Given the description of an element on the screen output the (x, y) to click on. 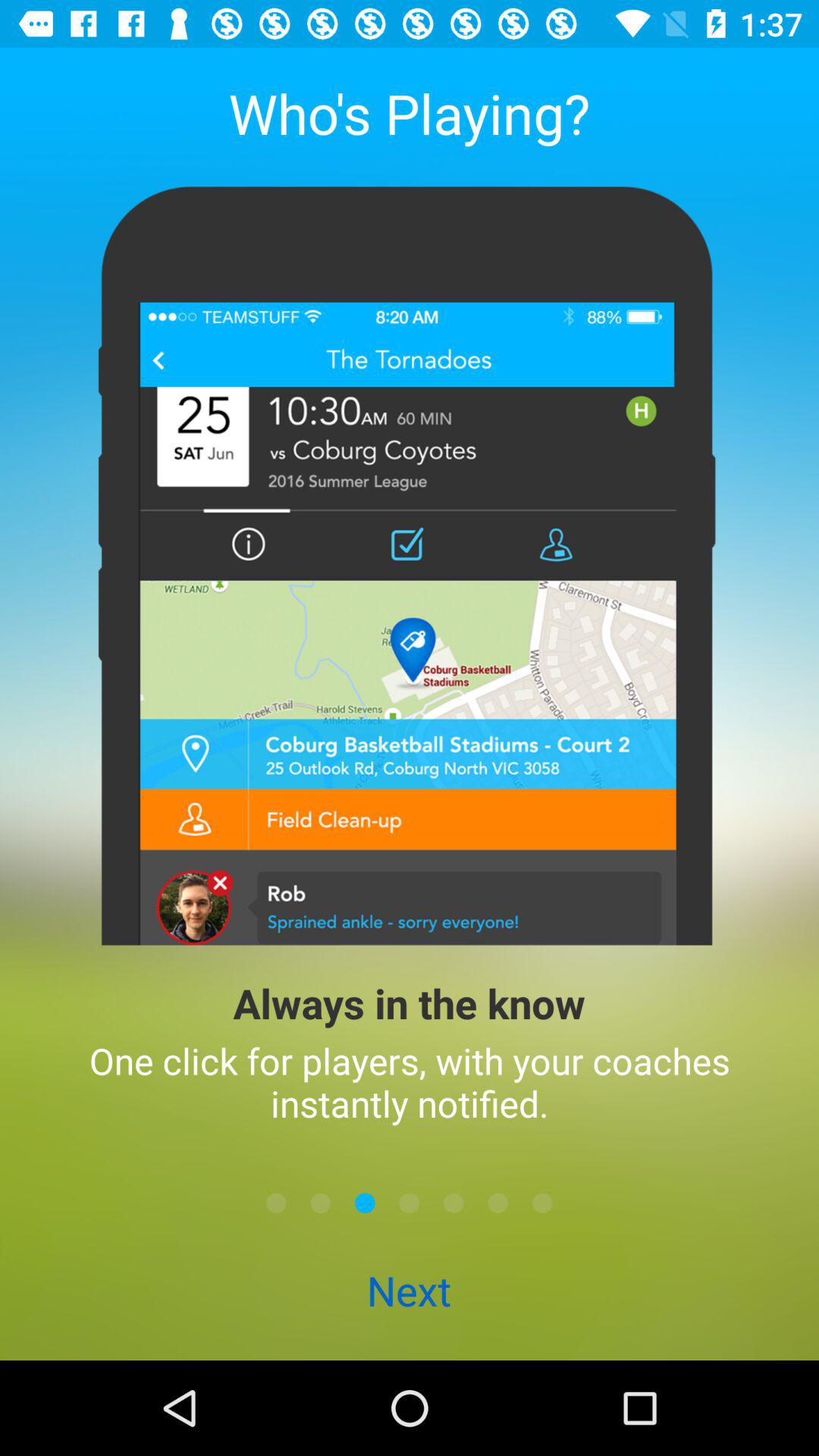
go to slide (498, 1203)
